Given the description of an element on the screen output the (x, y) to click on. 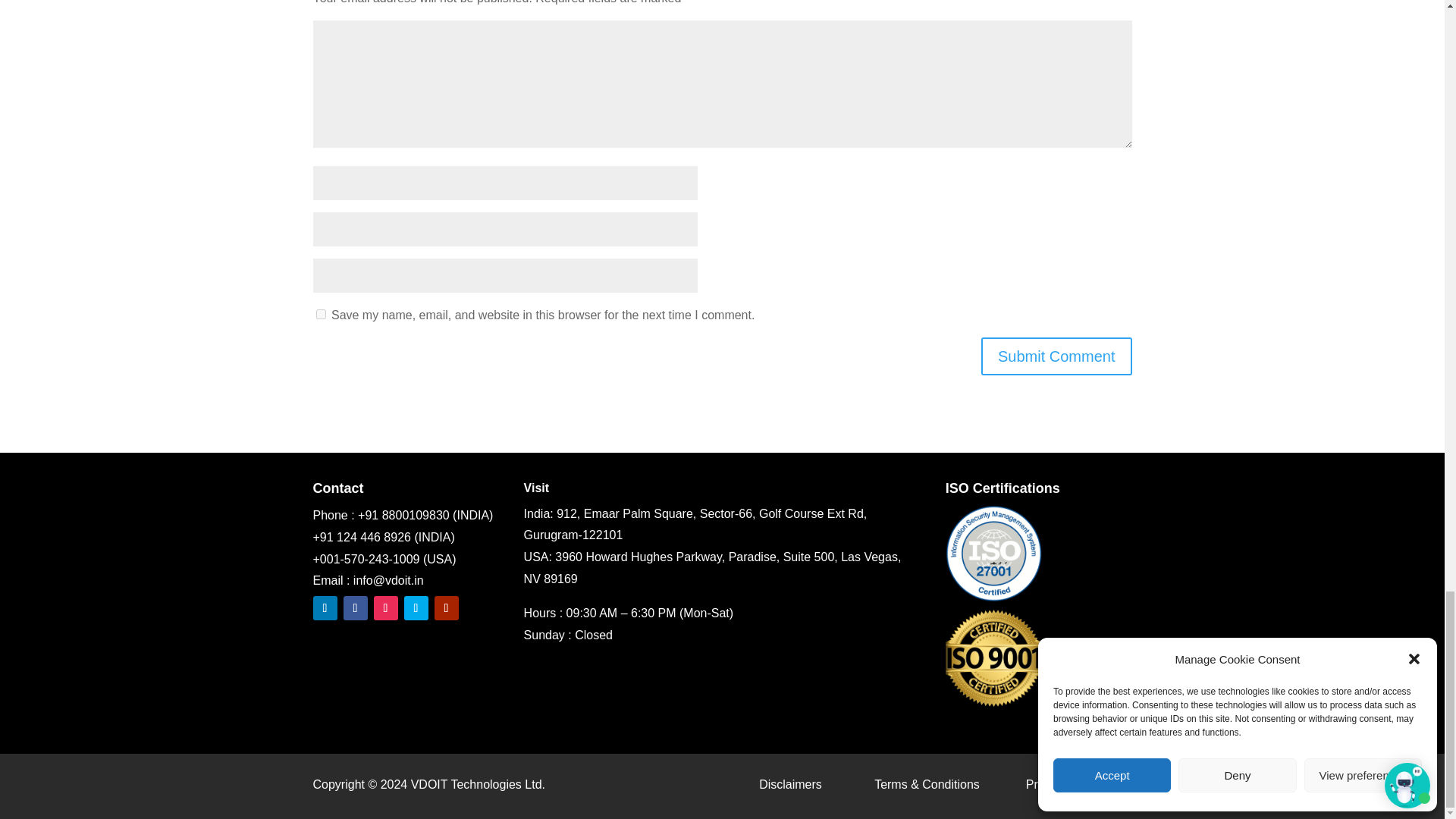
Follow on Youtube (445, 607)
Follow on Facebook (354, 607)
Follow on LinkedIn (324, 607)
Follow on Instagram (384, 607)
Submit Comment (1056, 356)
yes (319, 314)
Follow on Twitter (415, 607)
